Given the description of an element on the screen output the (x, y) to click on. 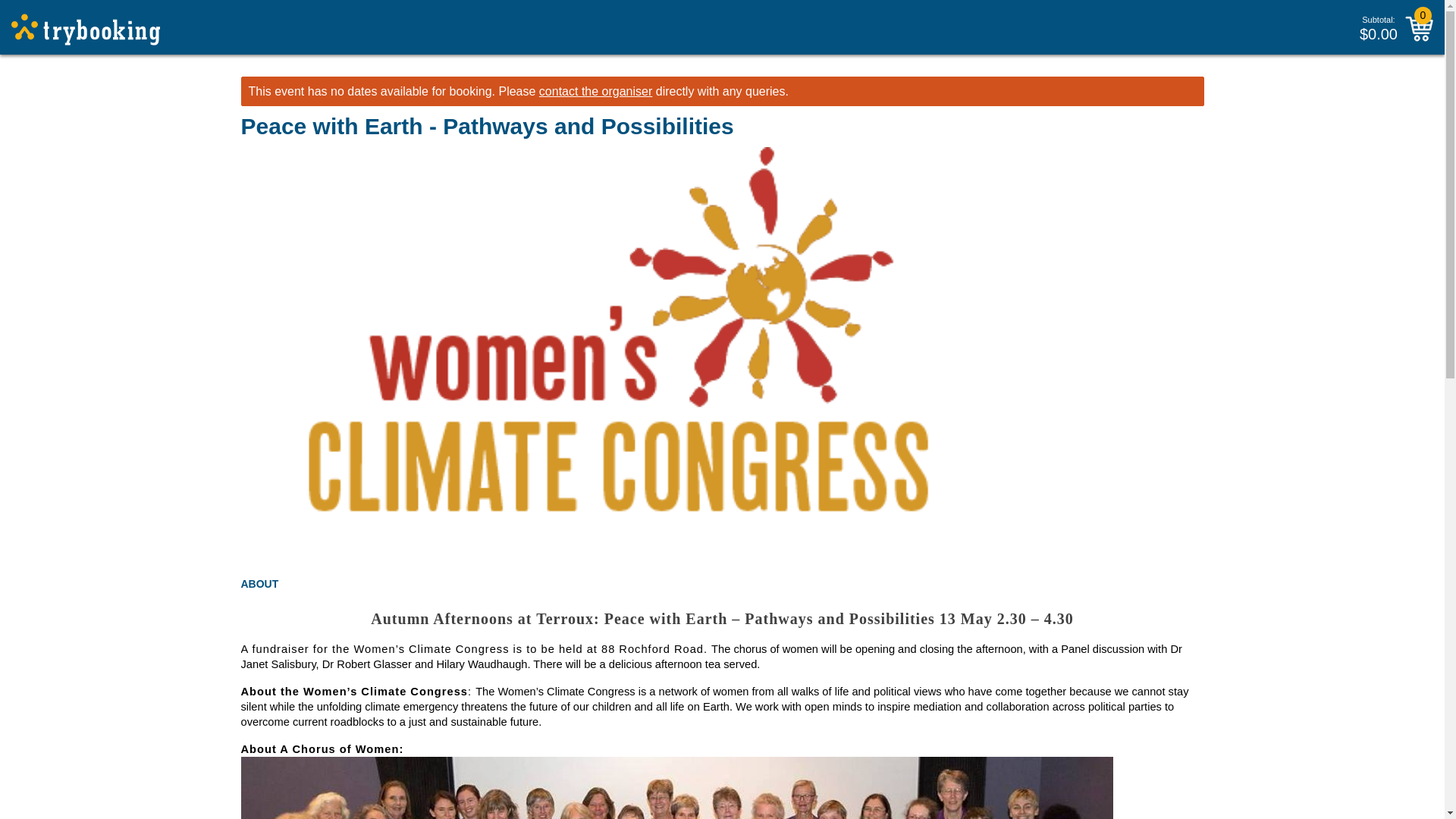
contact the organiser (595, 91)
TryBooking (85, 29)
